Given the description of an element on the screen output the (x, y) to click on. 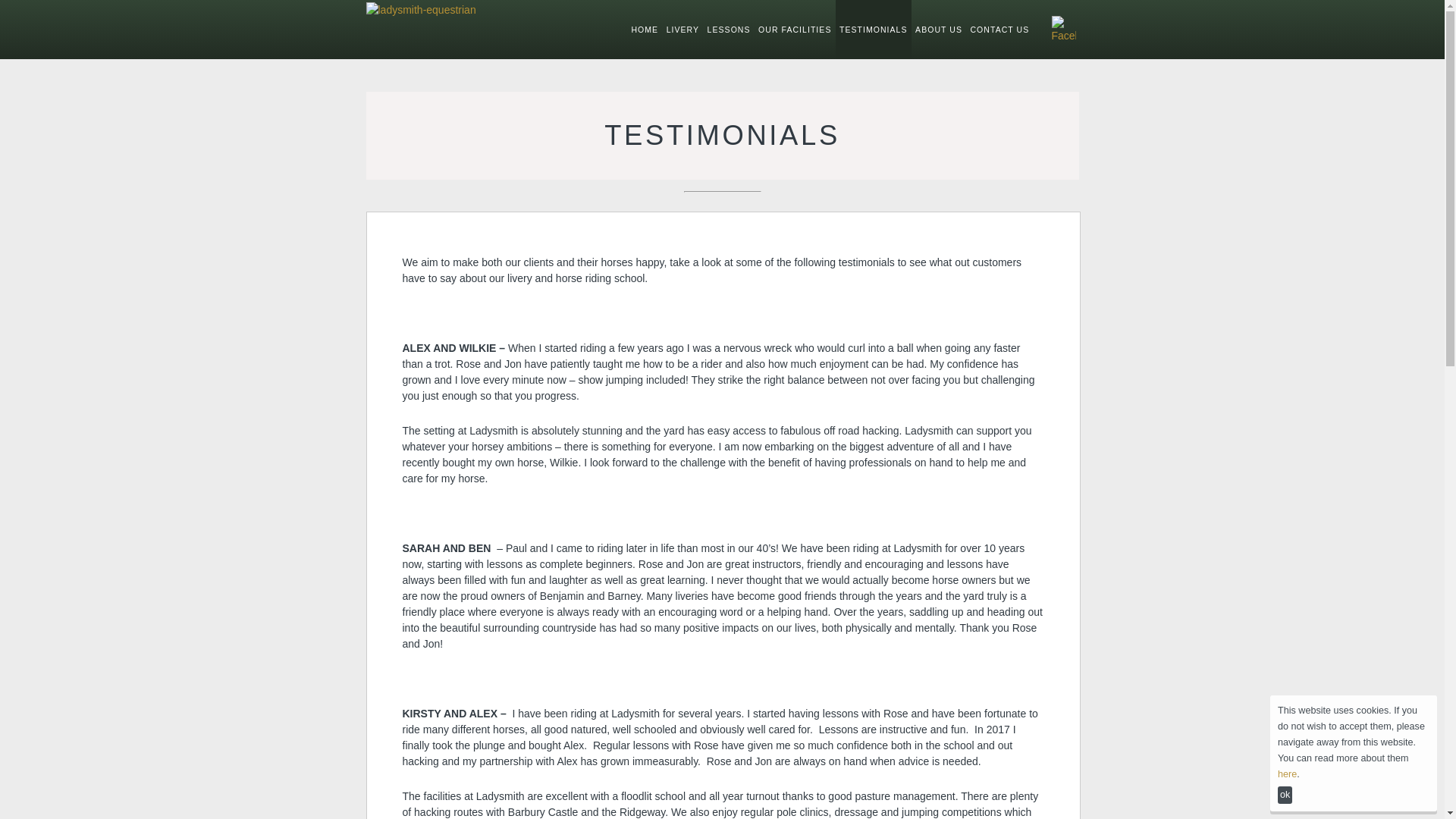
OUR FACILITIES (794, 29)
ABOUT US (938, 29)
here (1287, 774)
CONTACT US (999, 29)
TESTIMONIALS (873, 29)
